Given the description of an element on the screen output the (x, y) to click on. 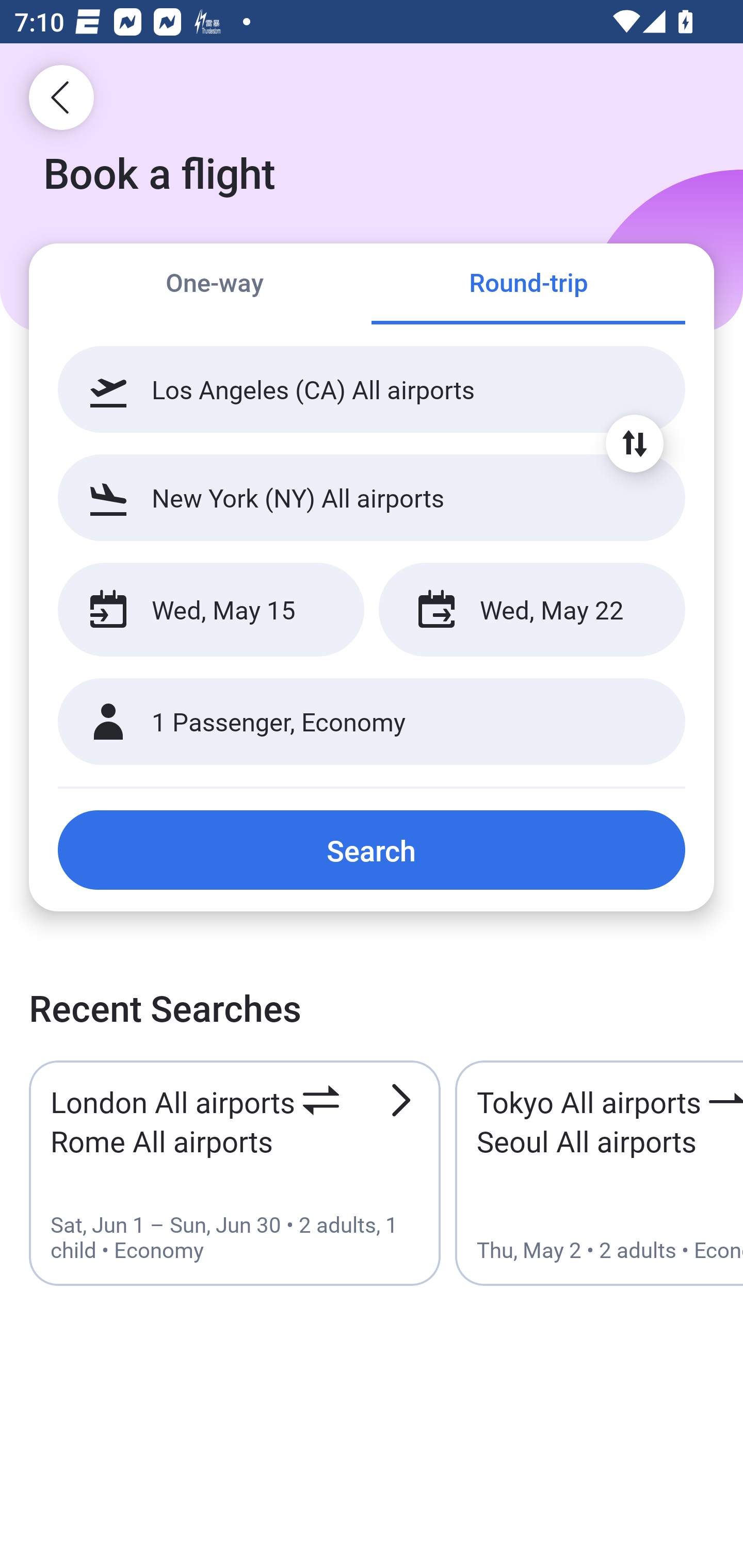
One-way (214, 284)
Los Angeles (CA) All airports (371, 389)
New York (NY) All airports (371, 497)
Wed, May 15 (210, 609)
Wed, May 22 (531, 609)
1 Passenger, Economy (371, 721)
Search (371, 849)
